Given the description of an element on the screen output the (x, y) to click on. 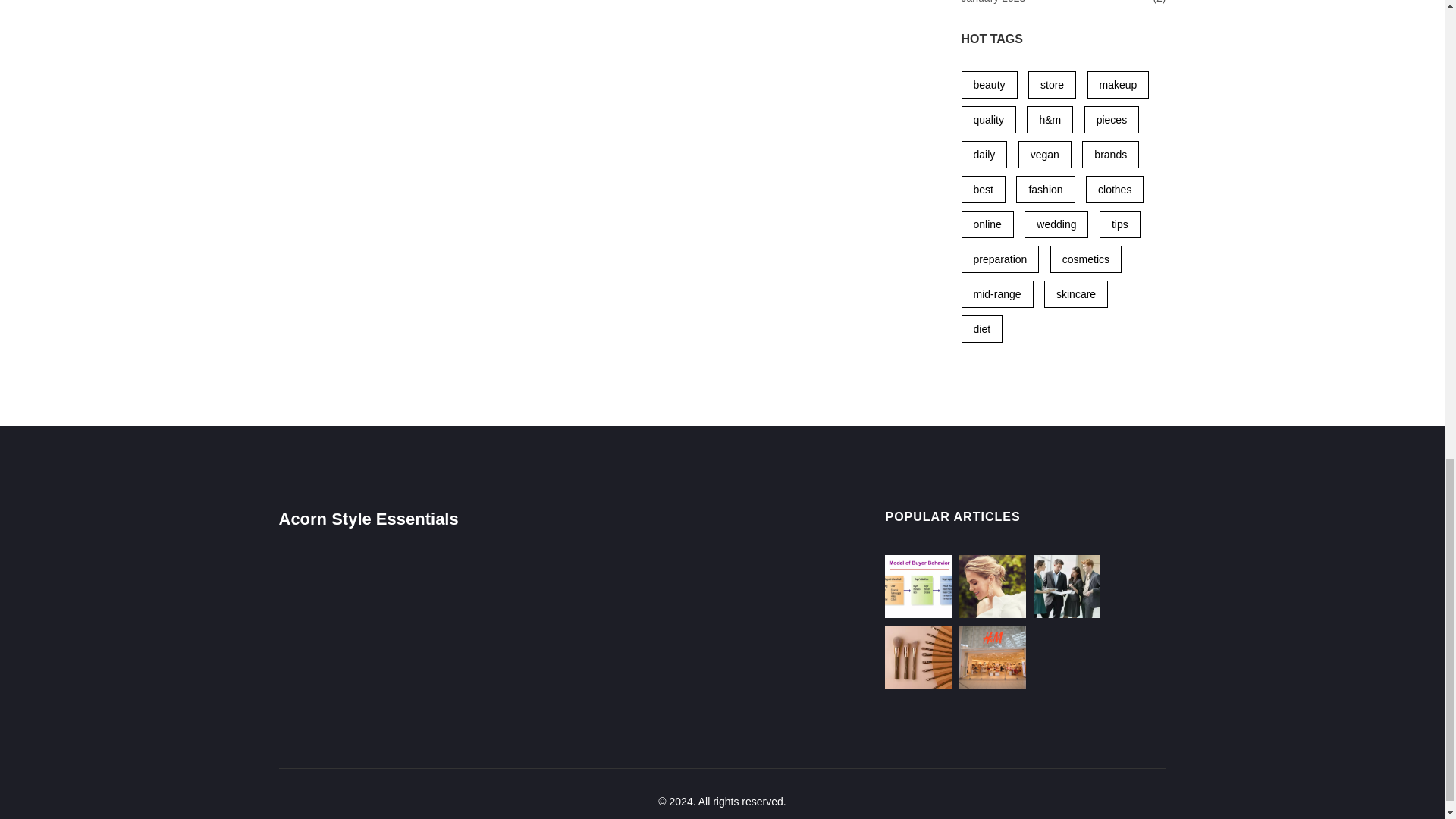
online (986, 224)
skincare (1075, 293)
clothes (1114, 189)
vegan (1044, 154)
preparation (999, 258)
tips (1119, 224)
best (983, 189)
daily (983, 154)
makeup (1118, 84)
wedding (1056, 224)
cosmetics (1085, 258)
fashion (1045, 189)
pieces (1111, 119)
quality (988, 119)
mid-range (996, 293)
